Given the description of an element on the screen output the (x, y) to click on. 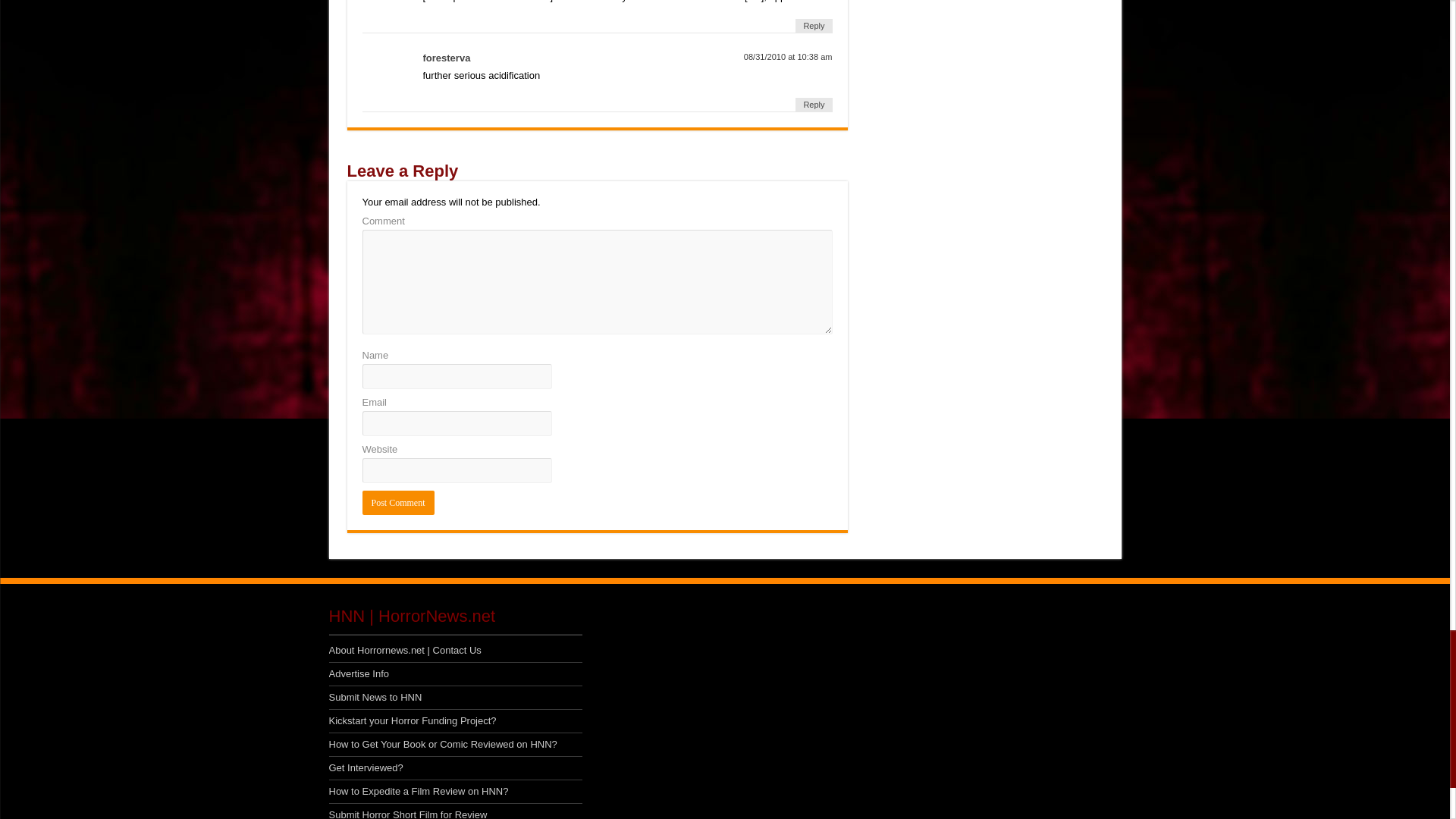
Post Comment (397, 502)
